Given the description of an element on the screen output the (x, y) to click on. 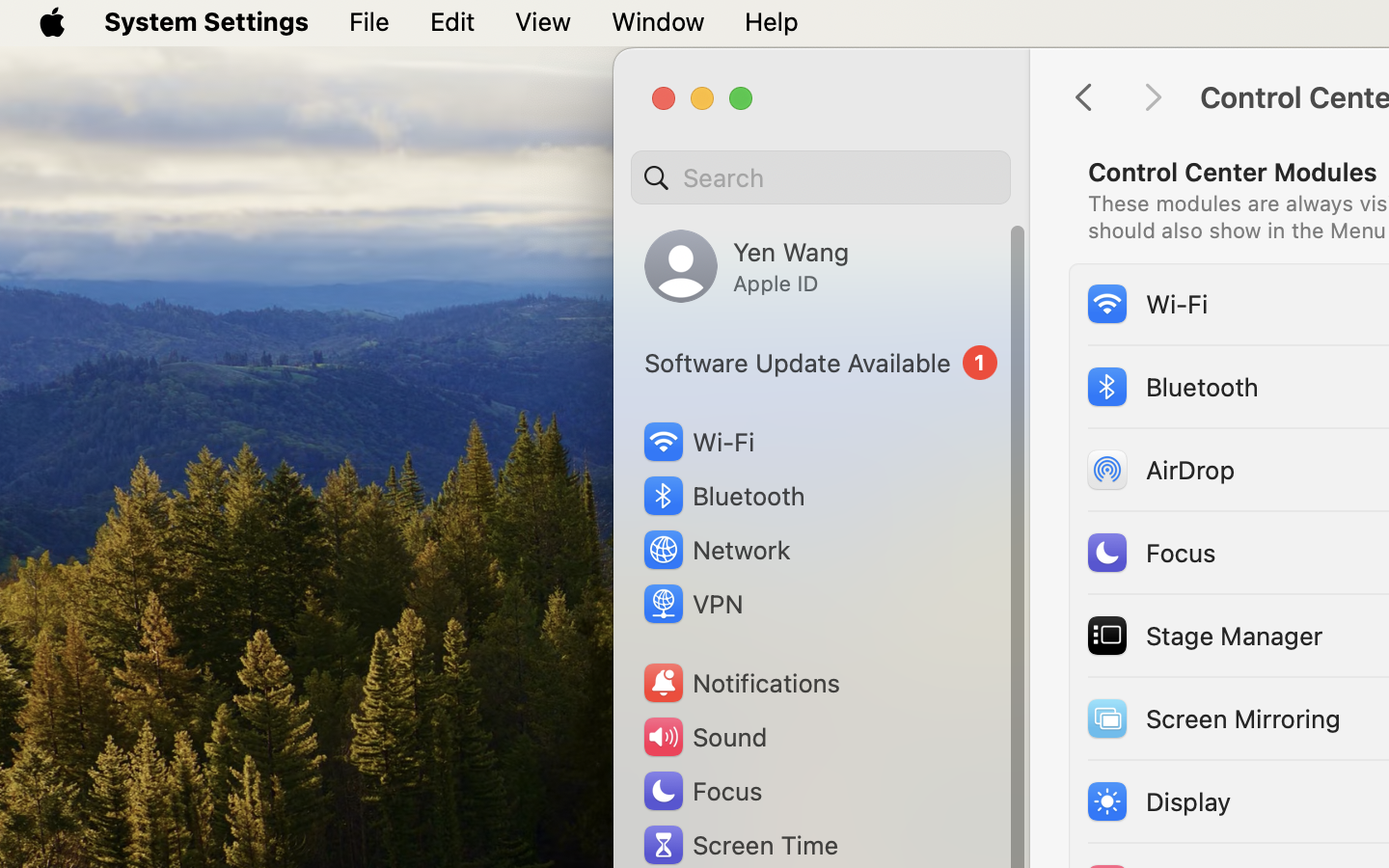
VPN Element type: AXStaticText (691, 603)
Network Element type: AXStaticText (715, 549)
Screen Time Element type: AXStaticText (739, 844)
Display Element type: AXStaticText (1157, 800)
Bluetooth Element type: AXStaticText (1171, 385)
